Given the description of an element on the screen output the (x, y) to click on. 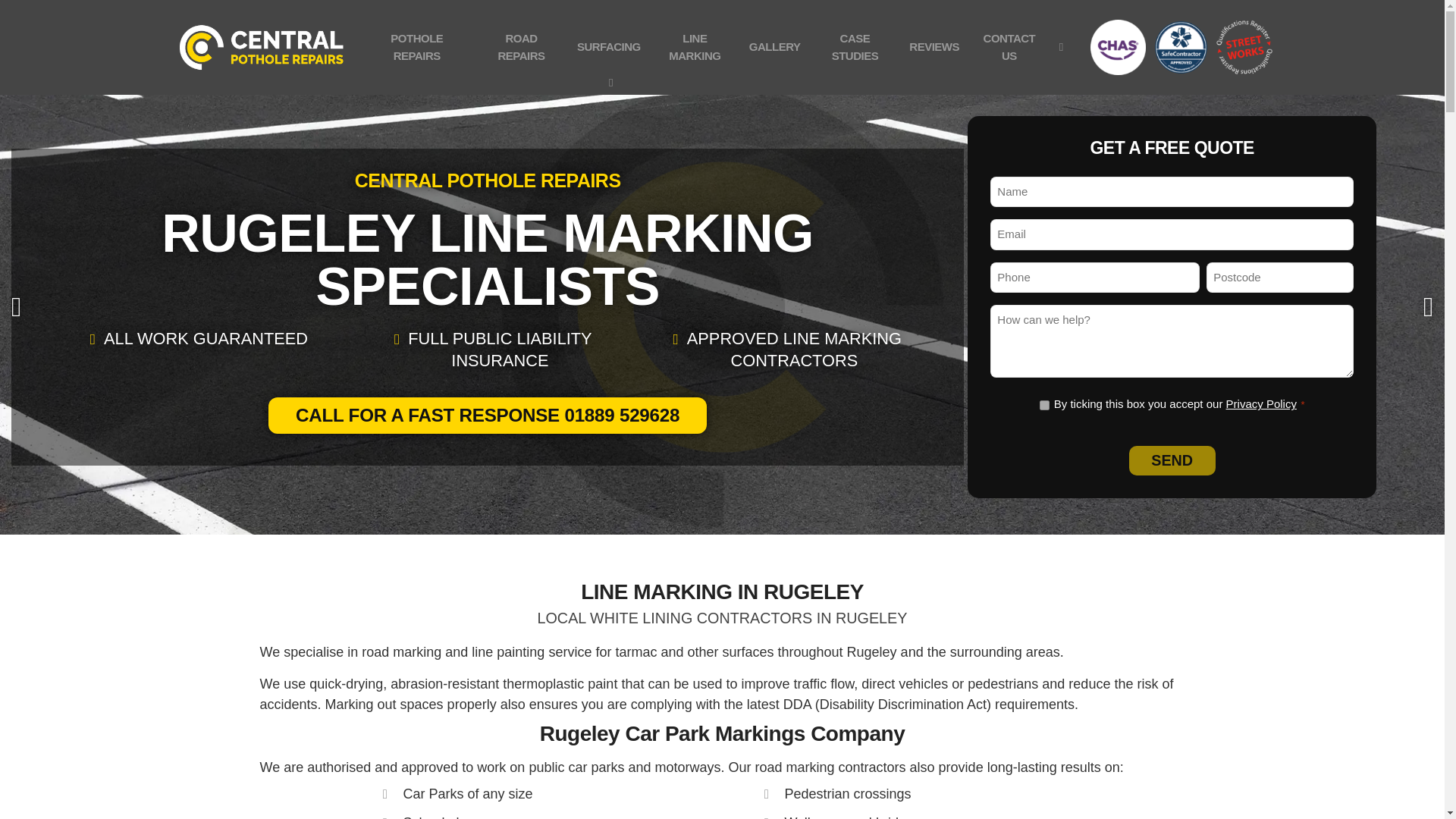
CONTACT US (1009, 46)
Streetworks Register ALT (1243, 47)
Send (1171, 460)
Privacy Policy (1261, 403)
POTHOLE REPAIRS (416, 46)
Send (1171, 460)
SURFACING (609, 46)
1 (1044, 405)
LINE MARKING (695, 46)
CASE STUDIES (854, 46)
ROAD REPAIRS (521, 46)
